Given the description of an element on the screen output the (x, y) to click on. 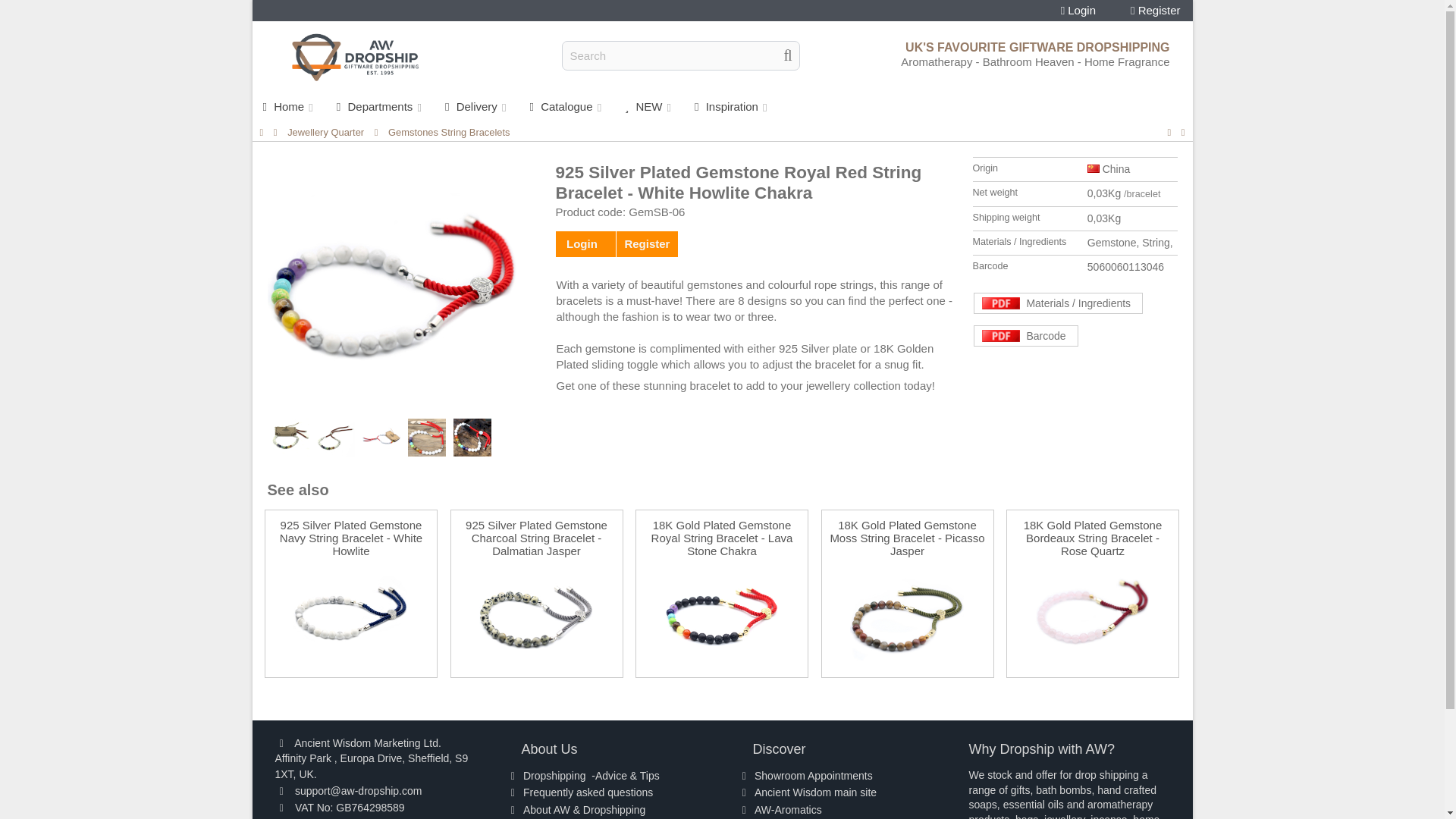
NEW (649, 106)
Inspiration (732, 106)
Delivery (476, 106)
Departments (379, 106)
Login (1078, 10)
Home (287, 106)
CHN (1093, 167)
Catalogue (566, 106)
Register (1155, 10)
